Given the description of an element on the screen output the (x, y) to click on. 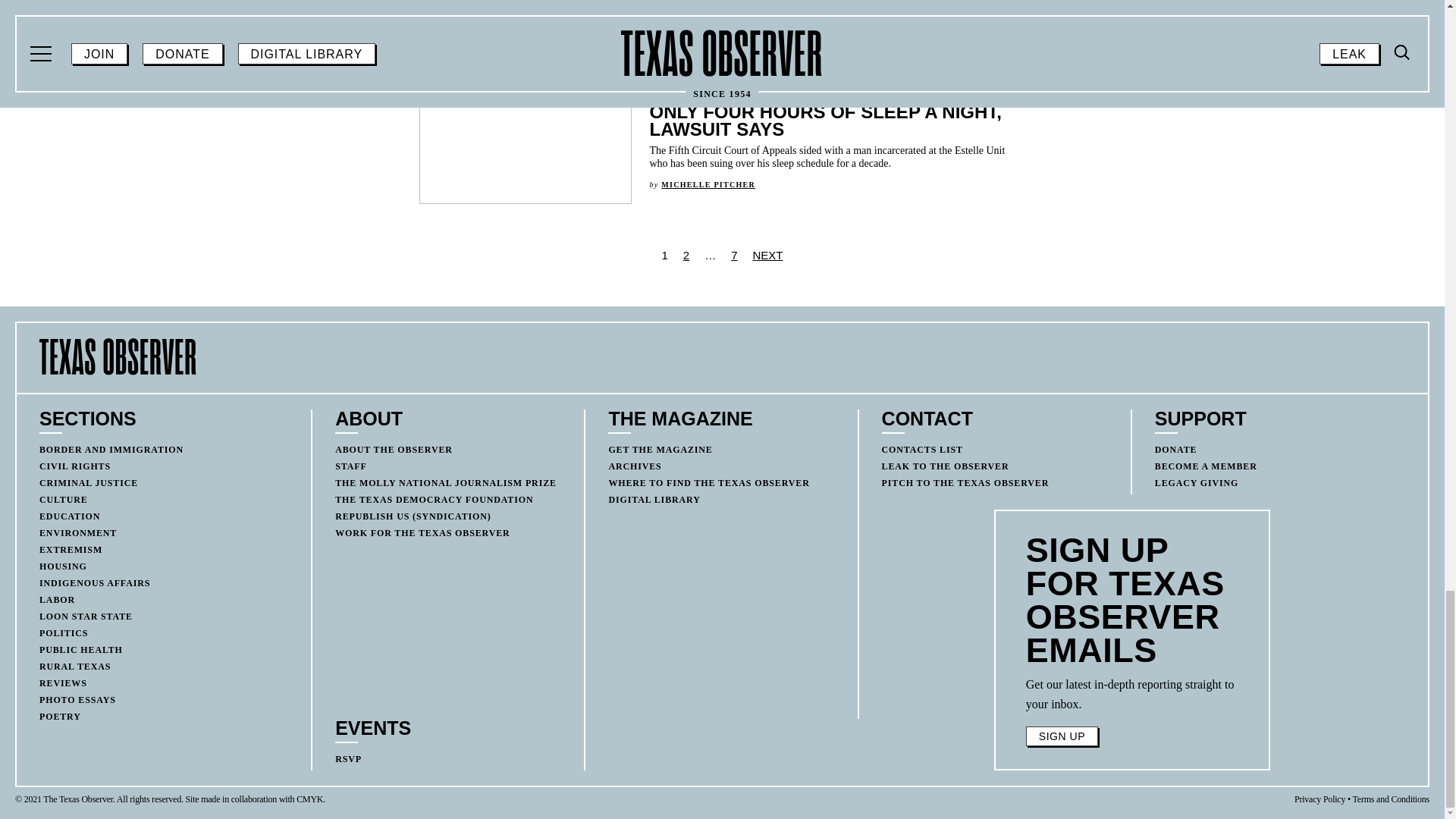
Post by Michelle Pitcher (708, 183)
Page 6 (1132, 694)
